Given the description of an element on the screen output the (x, y) to click on. 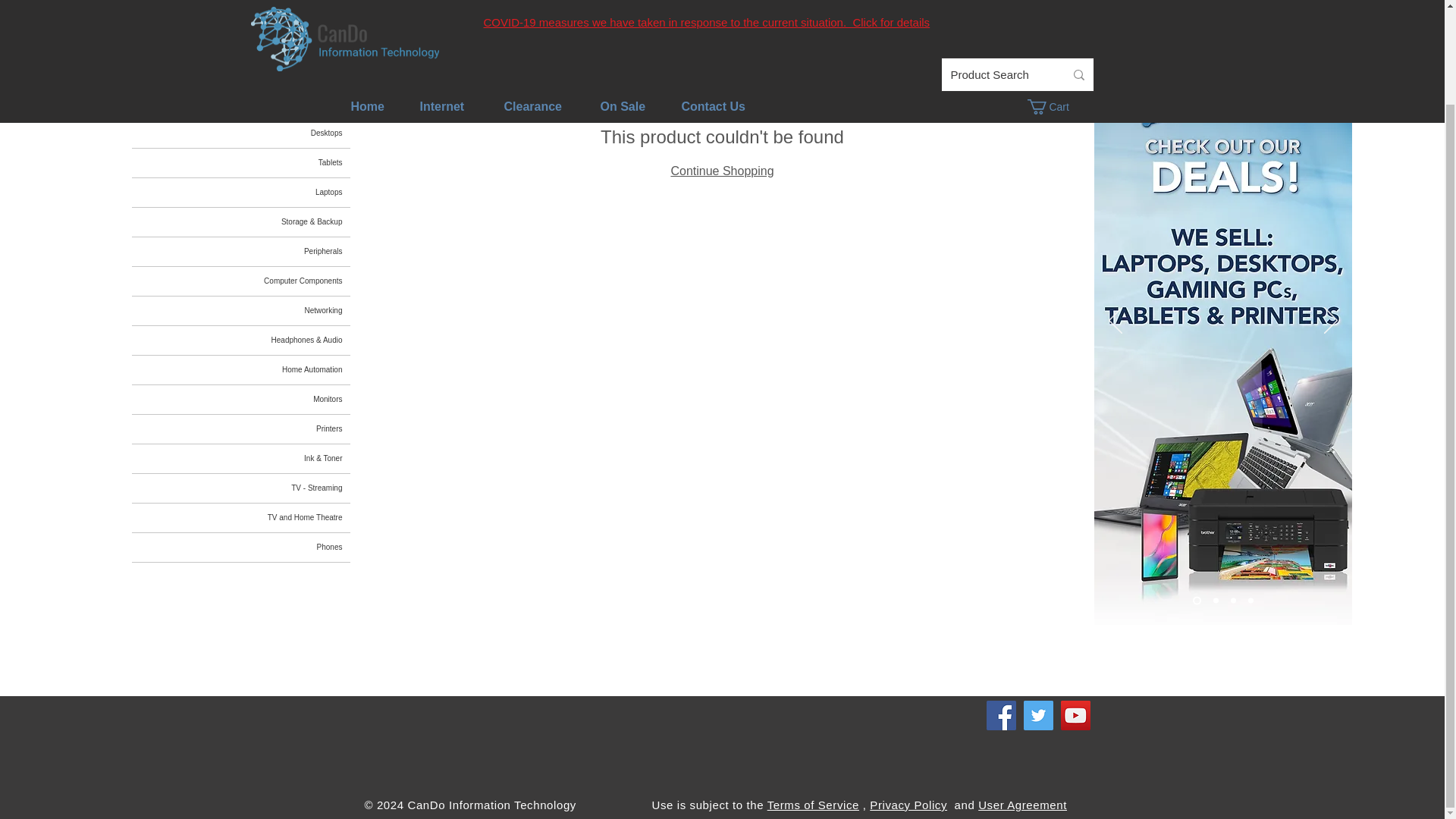
Home (367, 2)
Cart (1056, 2)
Contact Us (712, 2)
Internet (442, 2)
Clearance (532, 2)
Continue Shopping (721, 170)
On Sale (622, 2)
Cart (1056, 2)
